Given the description of an element on the screen output the (x, y) to click on. 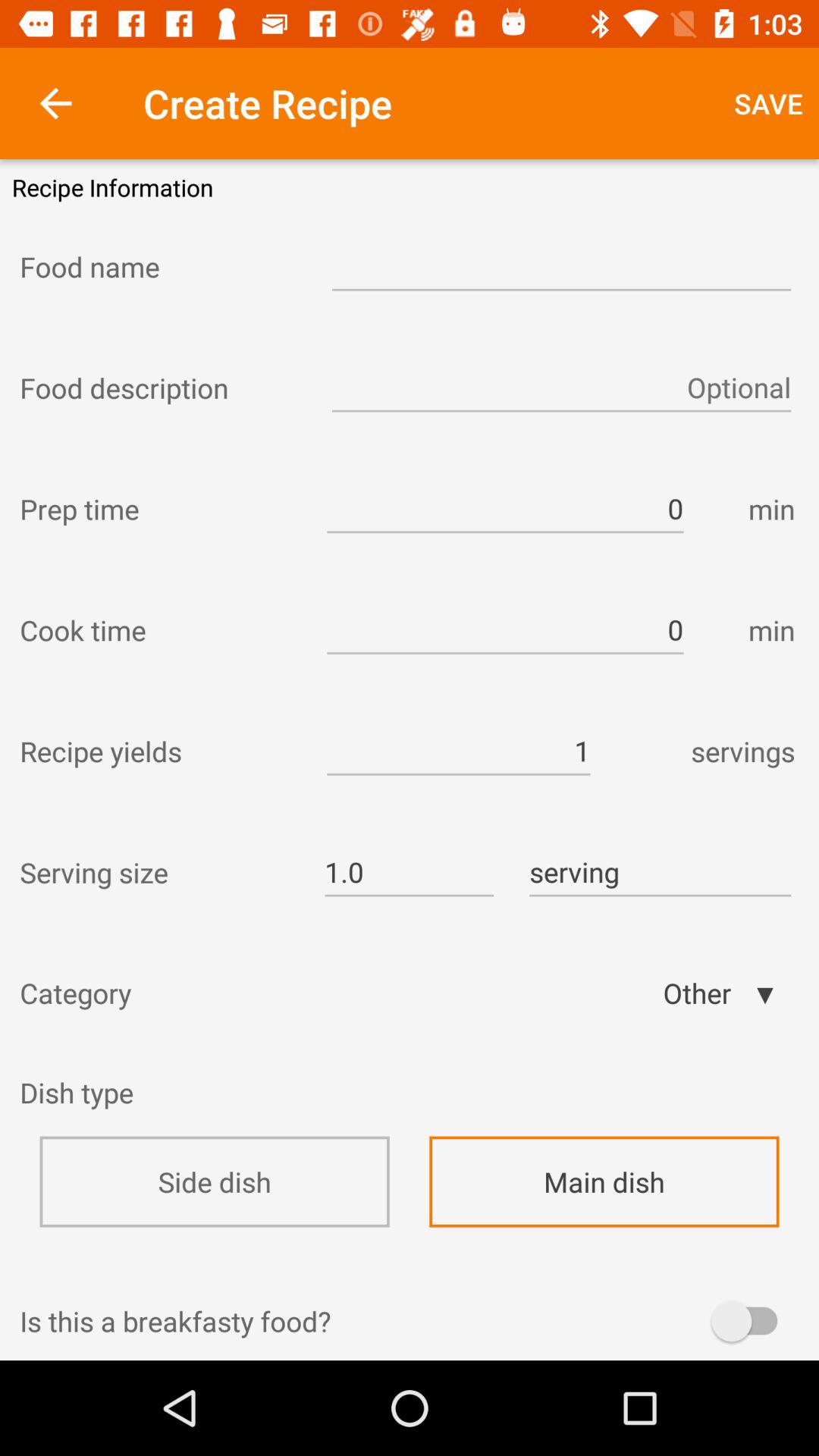
turn off the prep time item (159, 508)
